Given the description of an element on the screen output the (x, y) to click on. 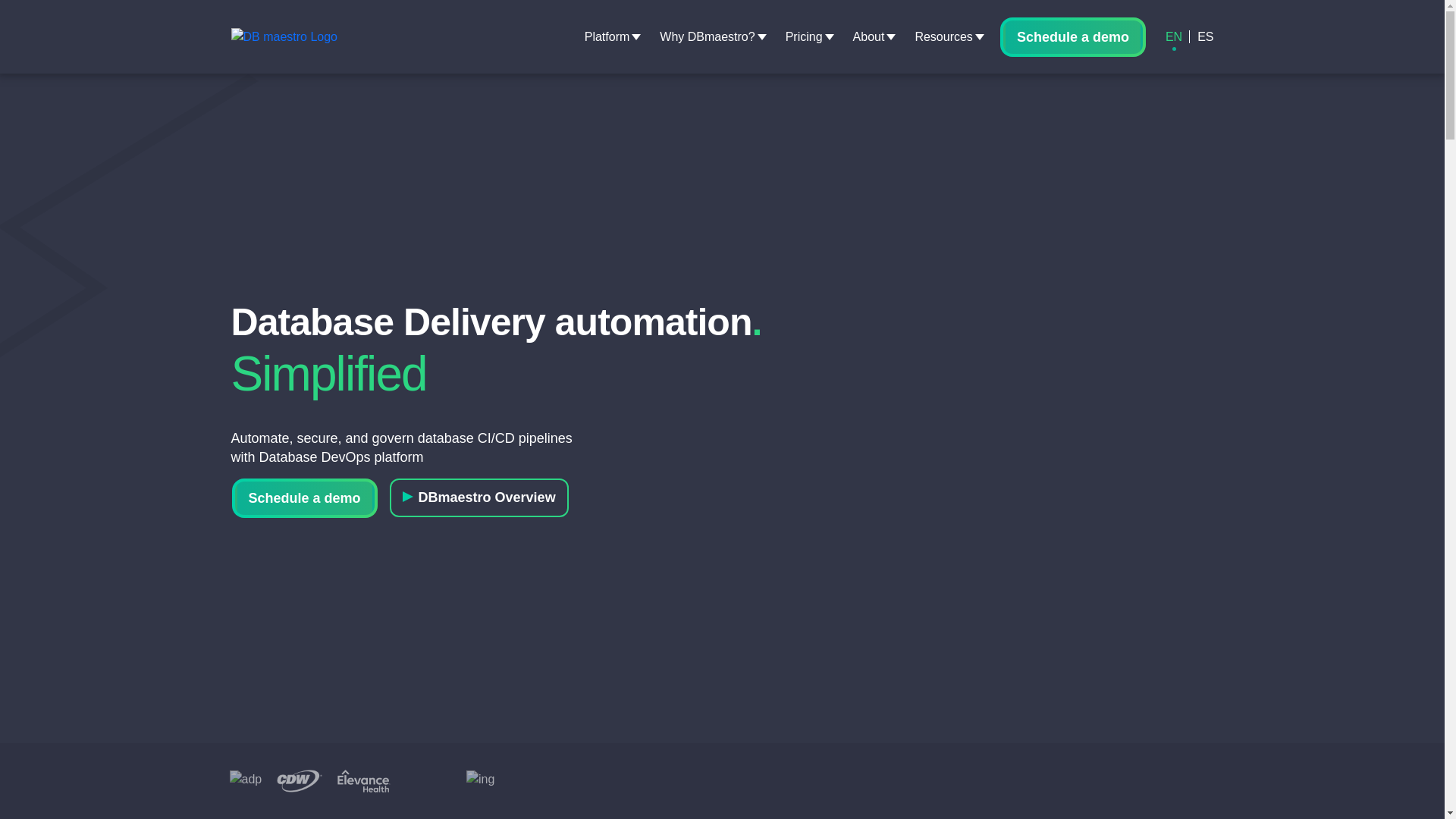
Pricing (804, 36)
Resources (943, 36)
ES (1204, 36)
Schedule a demo (1072, 36)
Why DBmaestro? (706, 36)
Schedule a demo (304, 498)
Platform (607, 36)
About (869, 36)
DBmaestro Overview (479, 497)
